Given the description of an element on the screen output the (x, y) to click on. 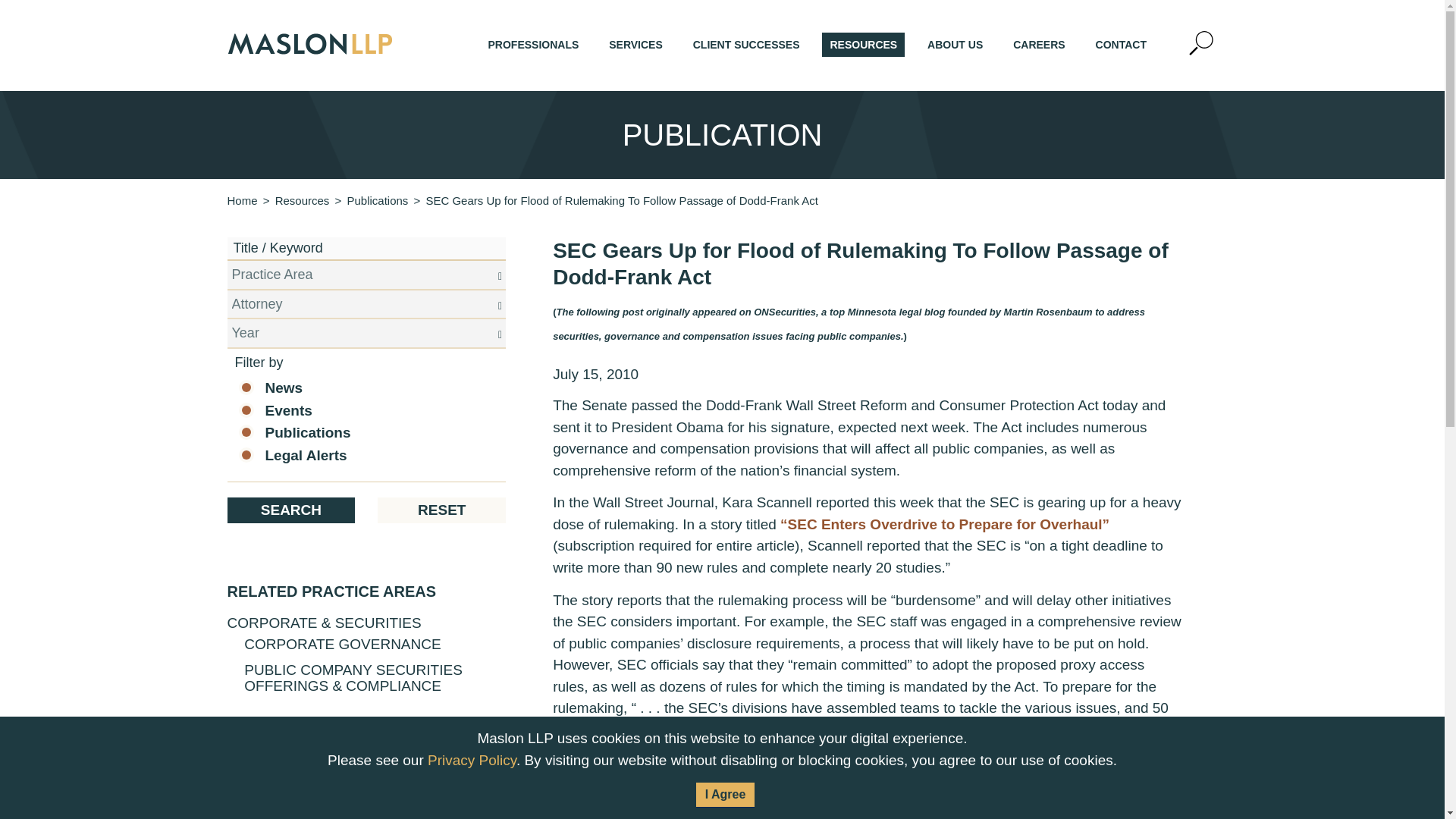
Home (242, 200)
Privacy Policy (472, 760)
RESET (441, 510)
PROFESSIONALS (533, 44)
Resources (302, 200)
CORPORATE GOVERNANCE (342, 643)
CONTACT (1120, 44)
SERVICES (635, 44)
CAREERS (1038, 44)
Publications (376, 200)
ABOUT US (955, 44)
RESOURCES (863, 44)
Open Site Search (1201, 44)
SEARCH (291, 510)
